Given the description of an element on the screen output the (x, y) to click on. 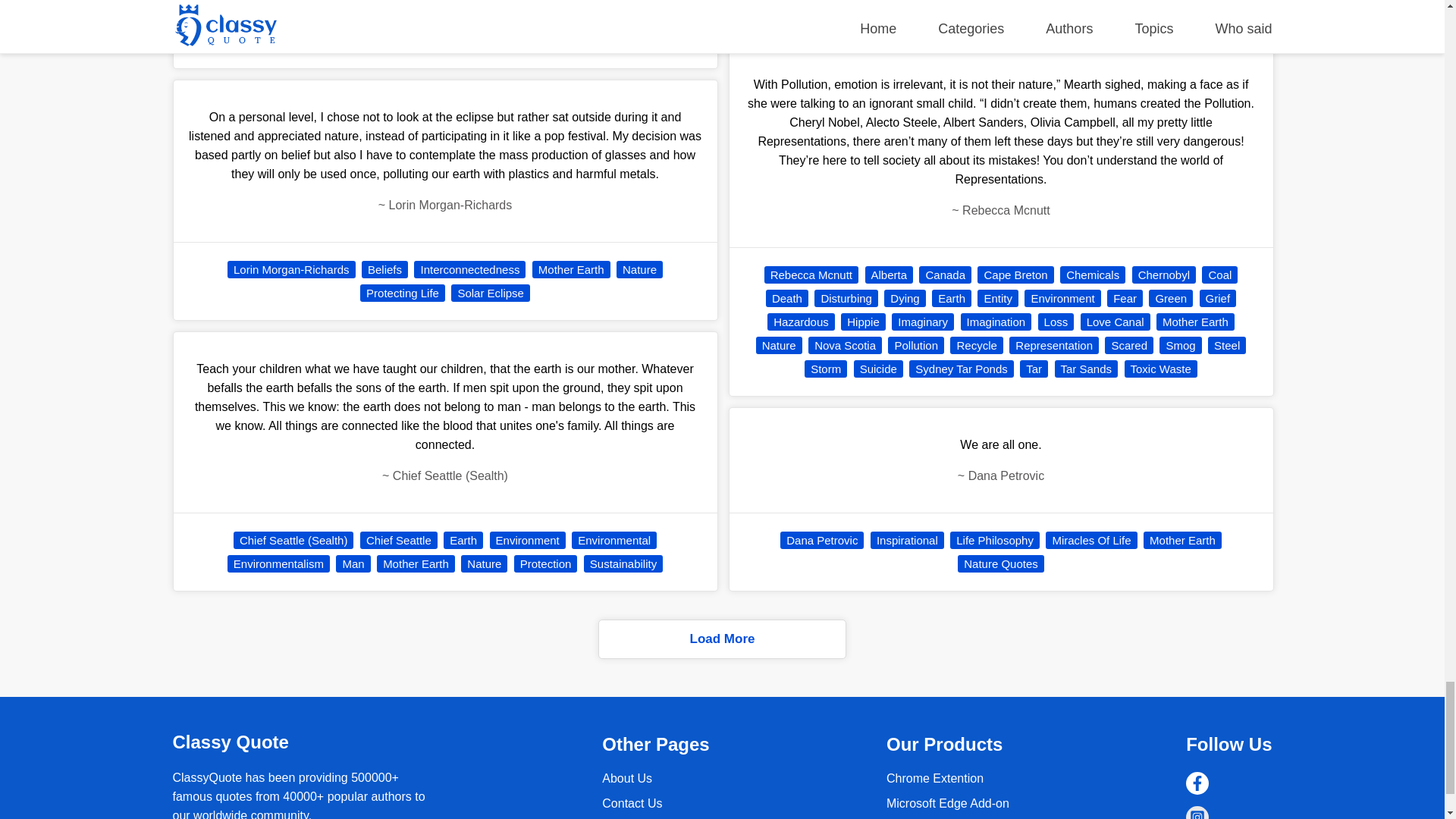
Chrome Extention (935, 778)
Chrome Extention (947, 802)
Instagram coming soon (1197, 812)
Facebook (1197, 783)
